Given the description of an element on the screen output the (x, y) to click on. 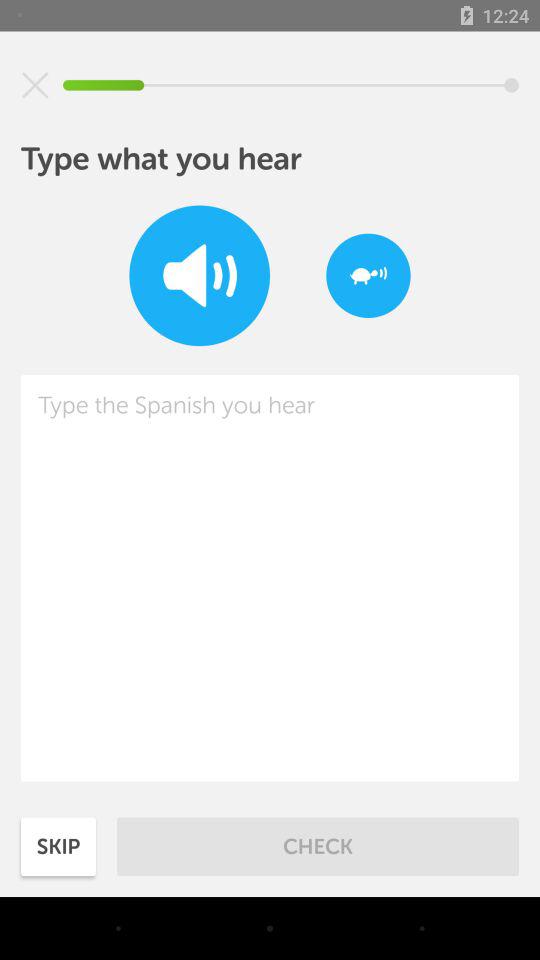
speak slowly (368, 275)
